Given the description of an element on the screen output the (x, y) to click on. 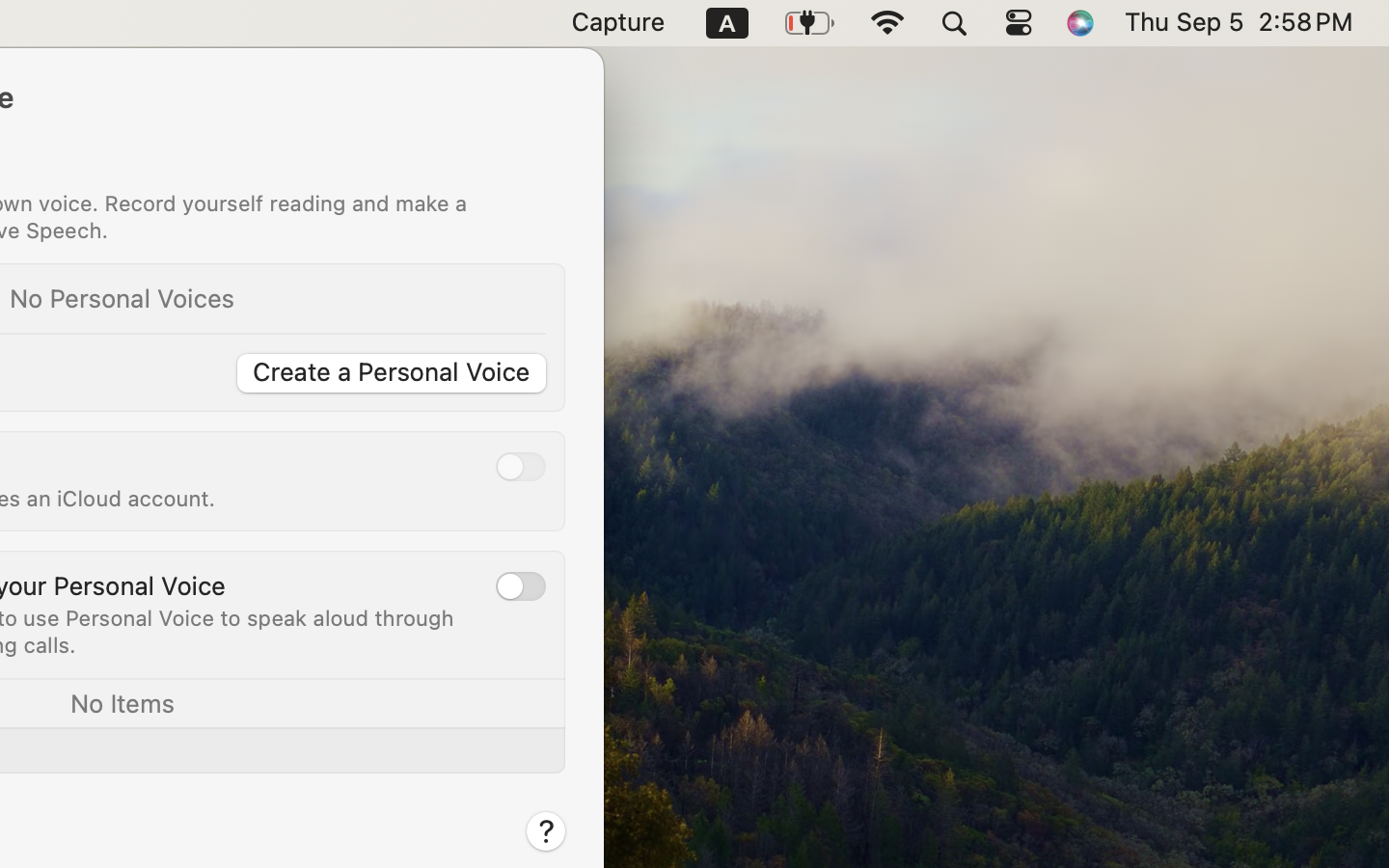
No Items Element type: AXStaticText (121, 701)
No Personal Voices Element type: AXStaticText (122, 296)
